Given the description of an element on the screen output the (x, y) to click on. 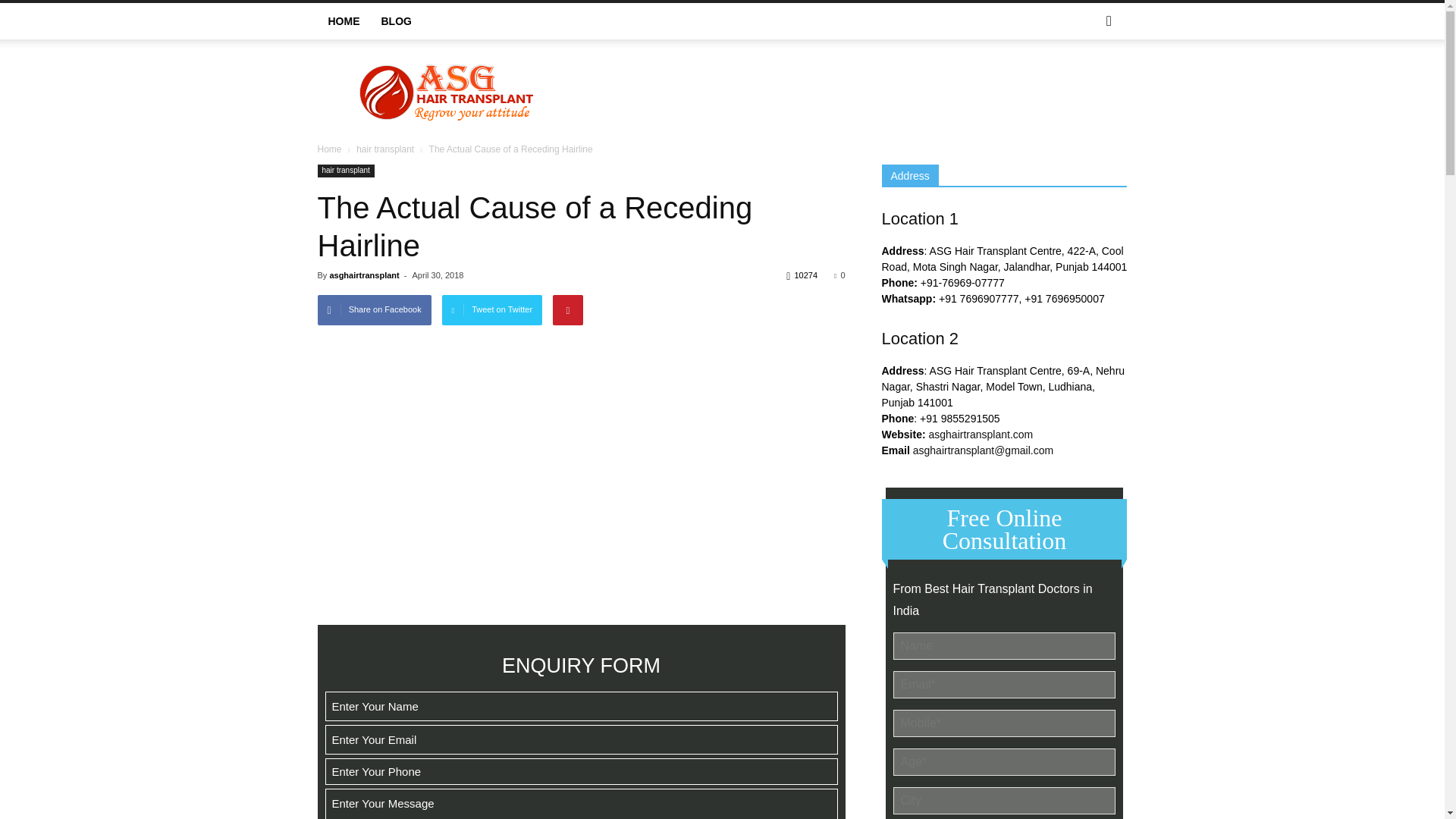
HOME (343, 21)
View all posts in hair transplant (384, 149)
Share on Facebook (373, 309)
Tweet on Twitter (492, 309)
hair transplant (345, 170)
BLOG (395, 21)
Asghairtransplant (445, 91)
asghairtransplant (363, 275)
hair transplant (384, 149)
Home (328, 149)
